Given the description of an element on the screen output the (x, y) to click on. 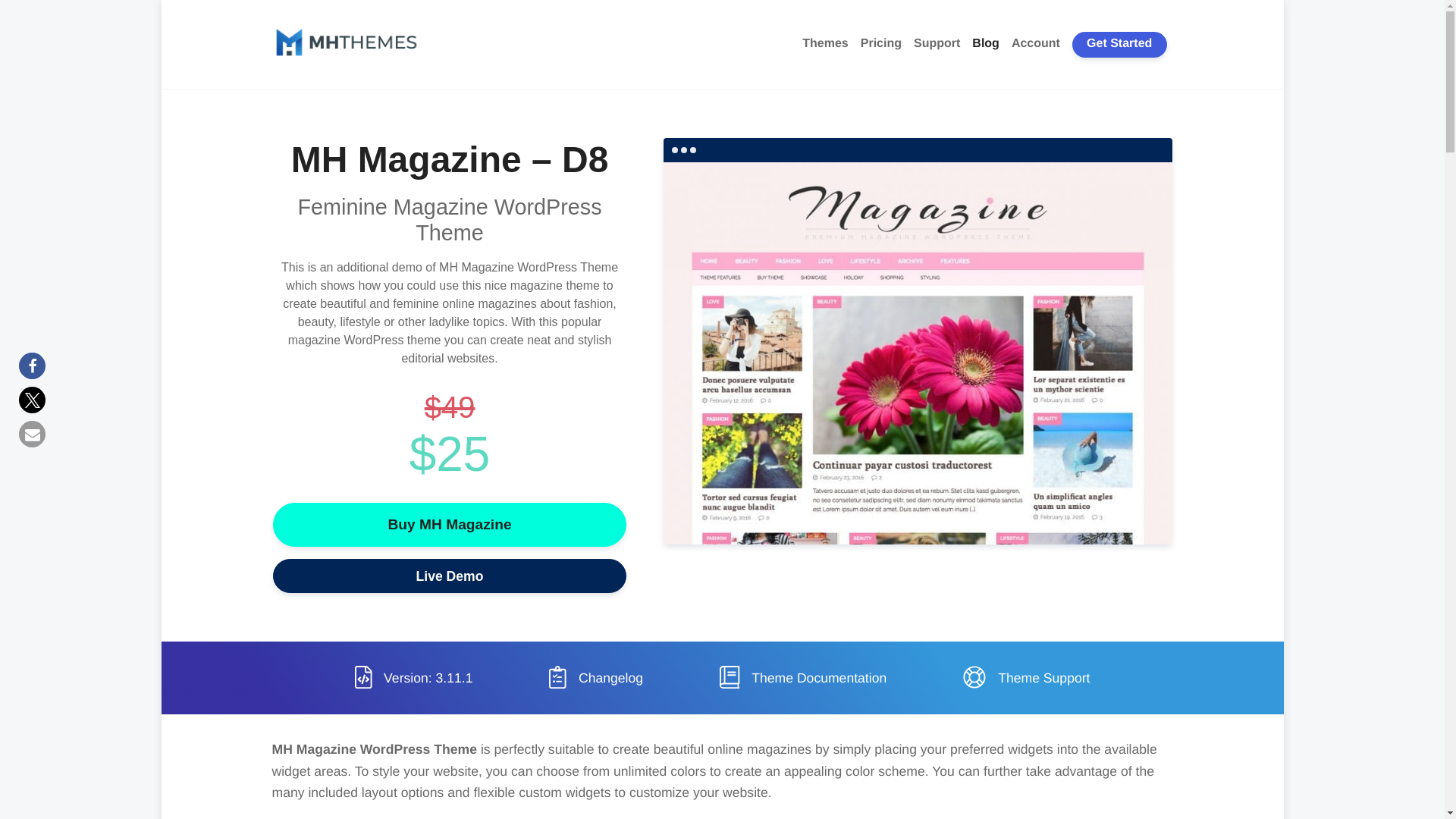
Theme Documentation (802, 676)
Pricing (880, 43)
Themes (824, 43)
Account (1035, 43)
Theme Support (1025, 676)
Changelog (595, 676)
Buy MH Magazine (449, 524)
Support (936, 43)
Send by email (31, 433)
Live Demo (449, 575)
Share on Facebook (31, 365)
Share on X (31, 399)
MH Themes (338, 76)
Theme Support (1025, 676)
Theme Documentation (802, 676)
